Given the description of an element on the screen output the (x, y) to click on. 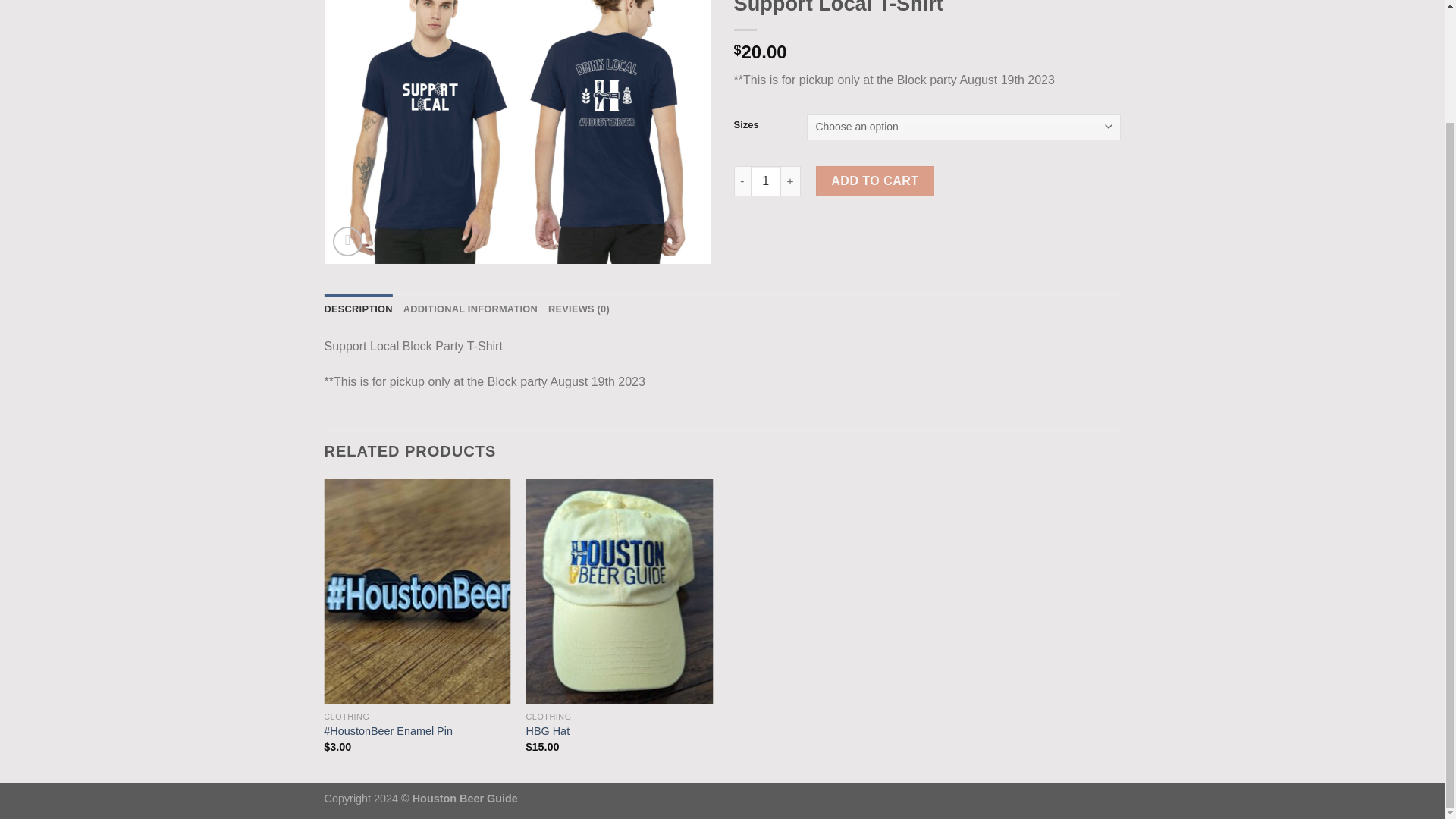
2022 Houston Beer Guide T-Shirt (517, 131)
ADDITIONAL INFORMATION (470, 309)
DESCRIPTION (358, 309)
HBG Hat (547, 730)
ADD TO CART (874, 181)
1 (765, 181)
Zoom (347, 241)
